Given the description of an element on the screen output the (x, y) to click on. 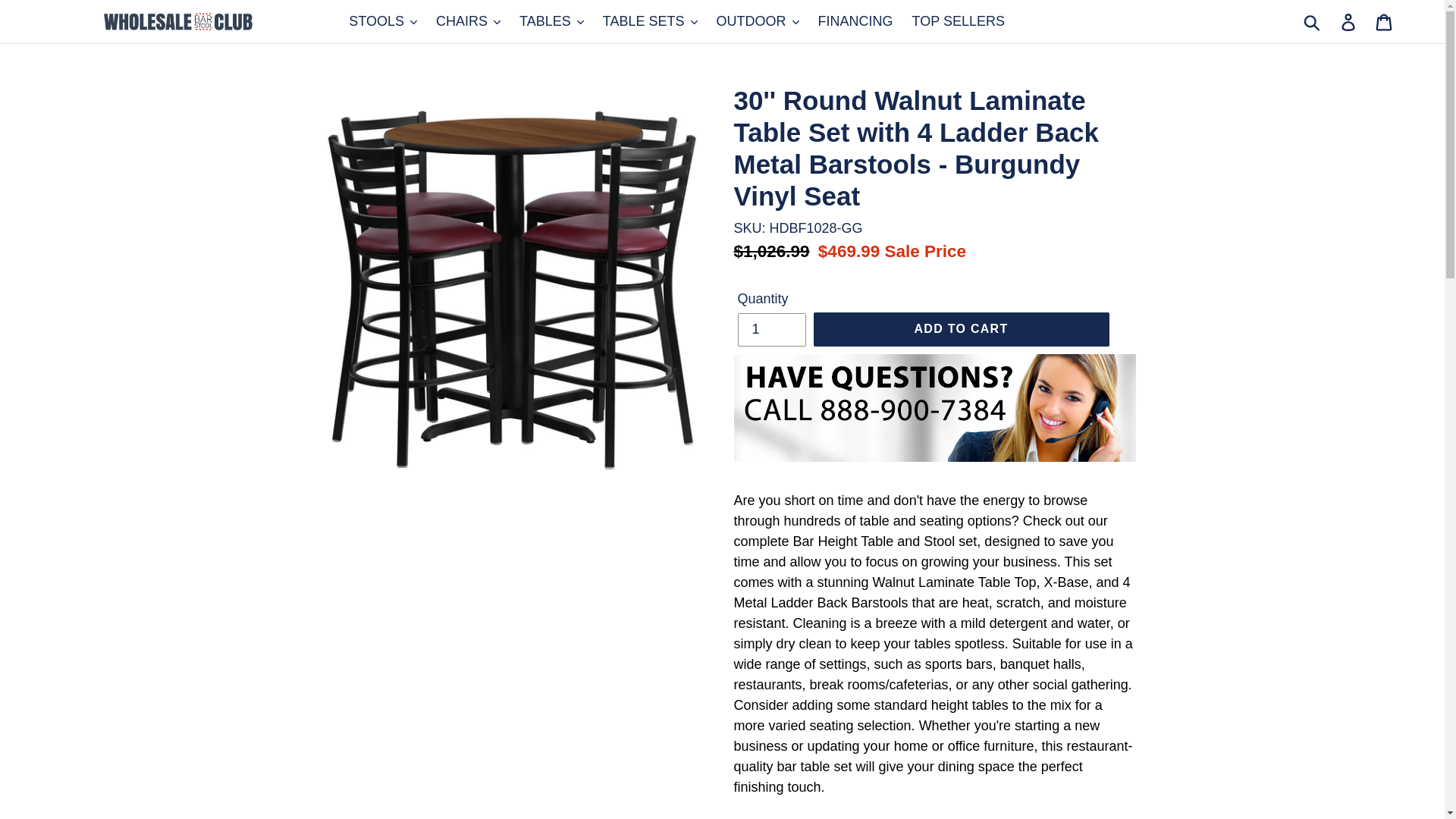
1 (770, 329)
Submit (1313, 20)
TOP SELLERS (957, 21)
FINANCING (855, 21)
Log in (1349, 21)
Cart (1385, 21)
